Given the description of an element on the screen output the (x, y) to click on. 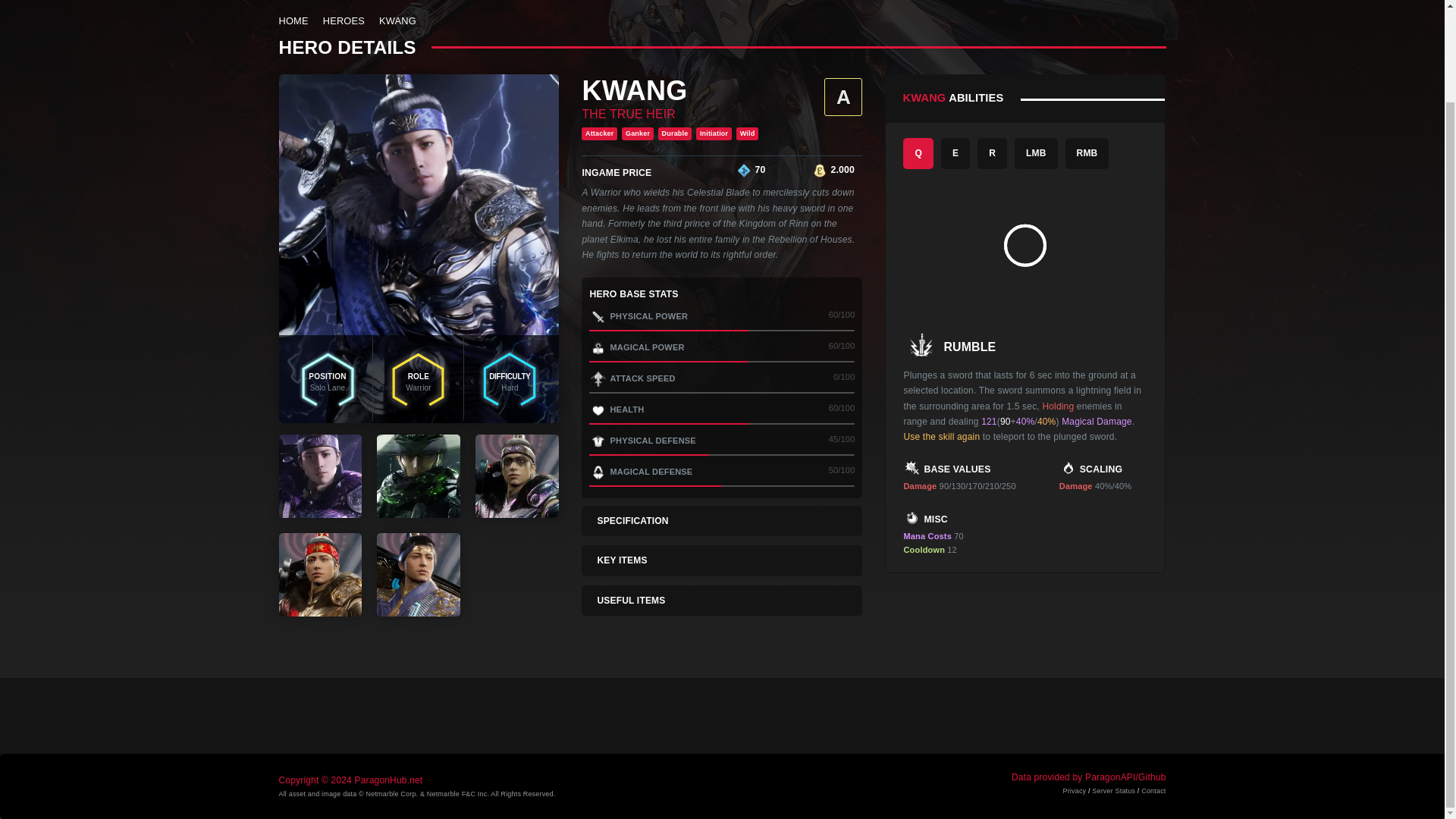
HOME (293, 20)
KWANG (397, 20)
HEROES (344, 20)
Kima (743, 169)
Renar (819, 169)
